Given the description of an element on the screen output the (x, y) to click on. 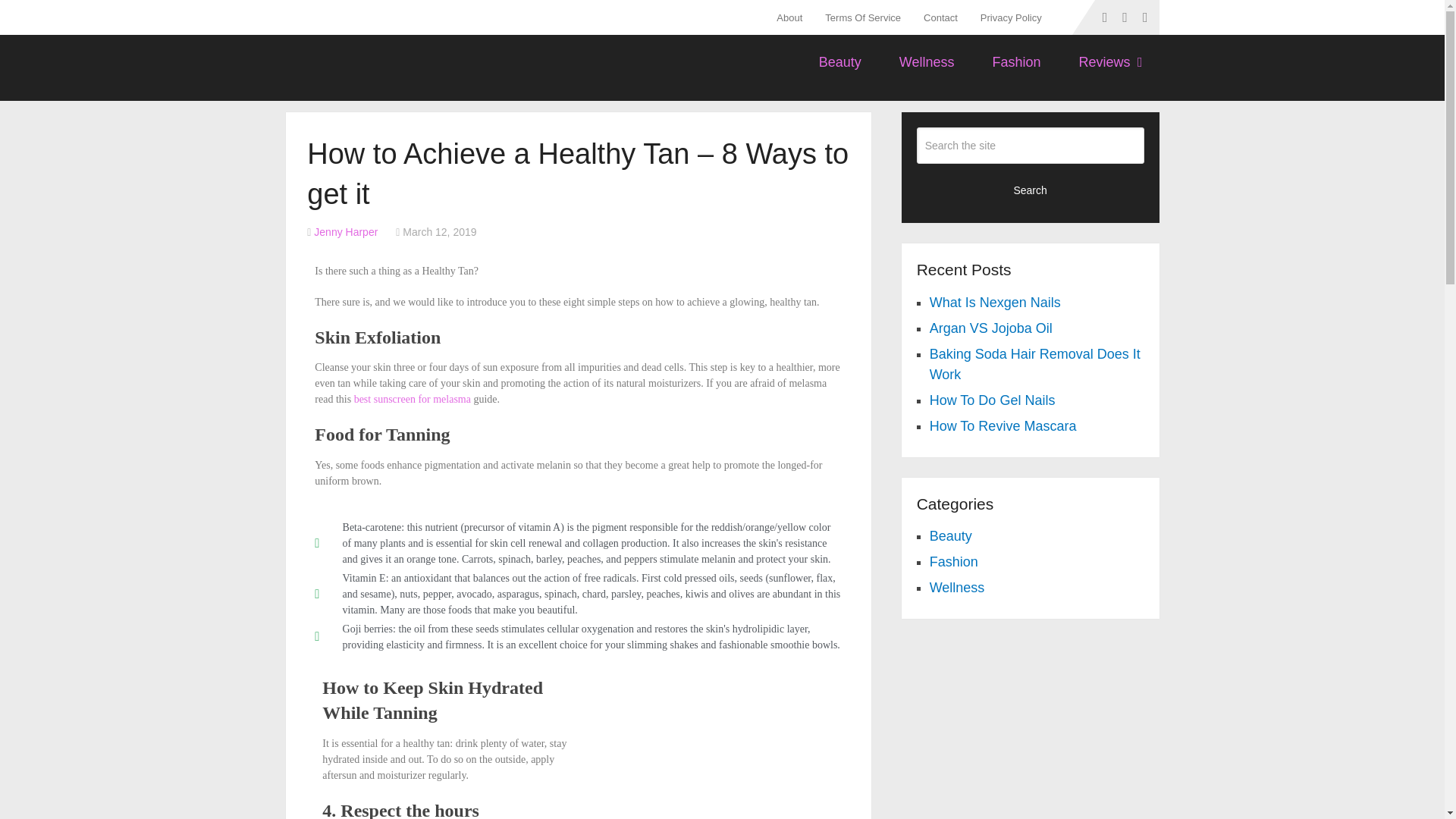
About (794, 17)
Privacy Policy (1010, 17)
best sunscreen for melasma (411, 398)
Search (1030, 189)
Wellness (927, 62)
Posts by Jenny Harper (345, 232)
What Is Nexgen Nails (995, 302)
Fashion (1015, 62)
Terms Of Service (862, 17)
Beauty (839, 62)
Contact (940, 17)
Reviews (1108, 62)
Jenny Harper (345, 232)
